Given the description of an element on the screen output the (x, y) to click on. 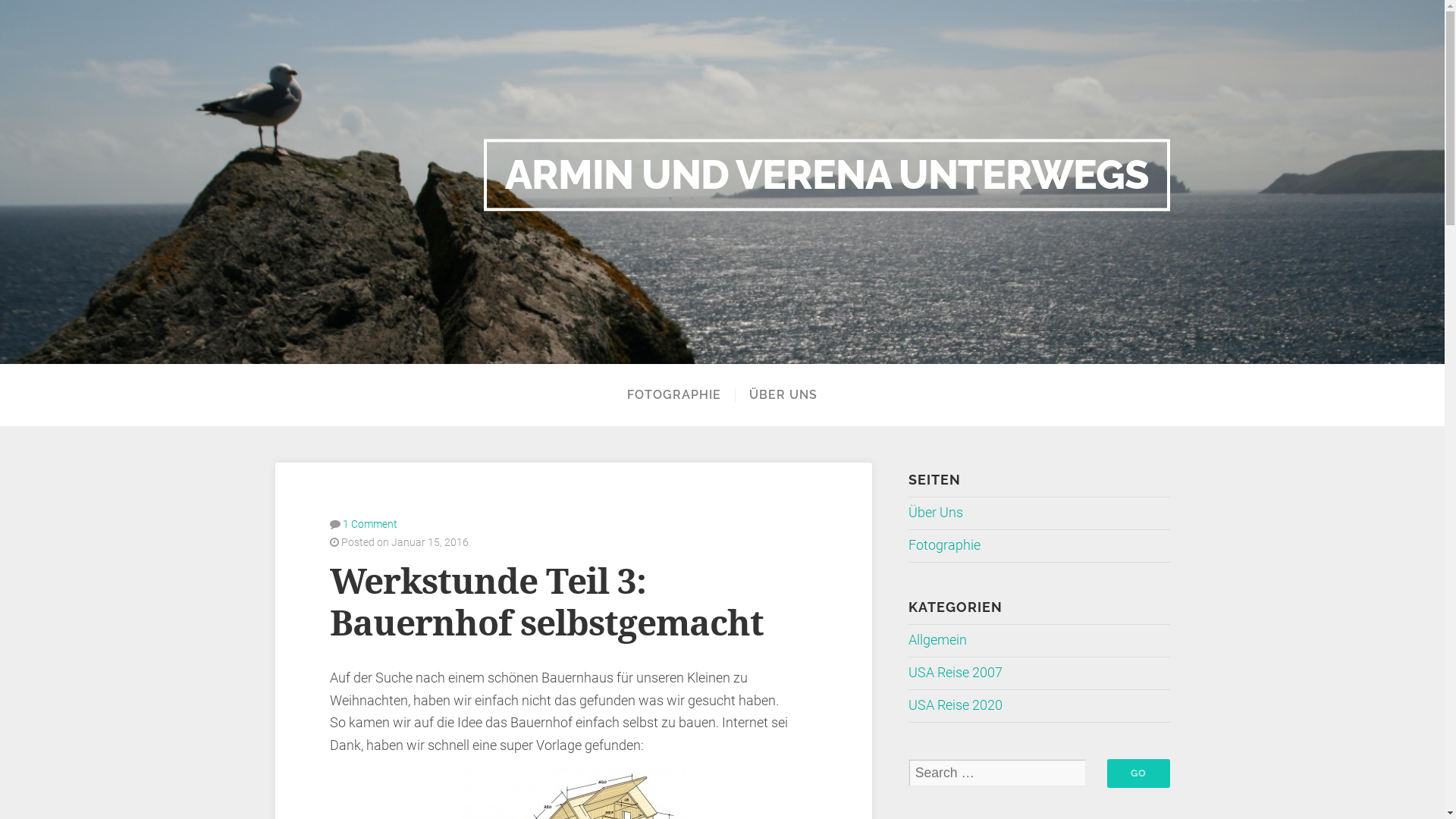
1 Comment Element type: text (369, 523)
ARMIN UND VERENA UNTERWEGS Element type: text (826, 174)
FOTOGRAPHIE Element type: text (673, 394)
USA Reise 2020 Element type: text (955, 704)
Go Element type: text (1138, 773)
USA Reise 2007 Element type: text (955, 672)
Allgemein Element type: text (937, 639)
Fotographie Element type: text (944, 544)
